Given the description of an element on the screen output the (x, y) to click on. 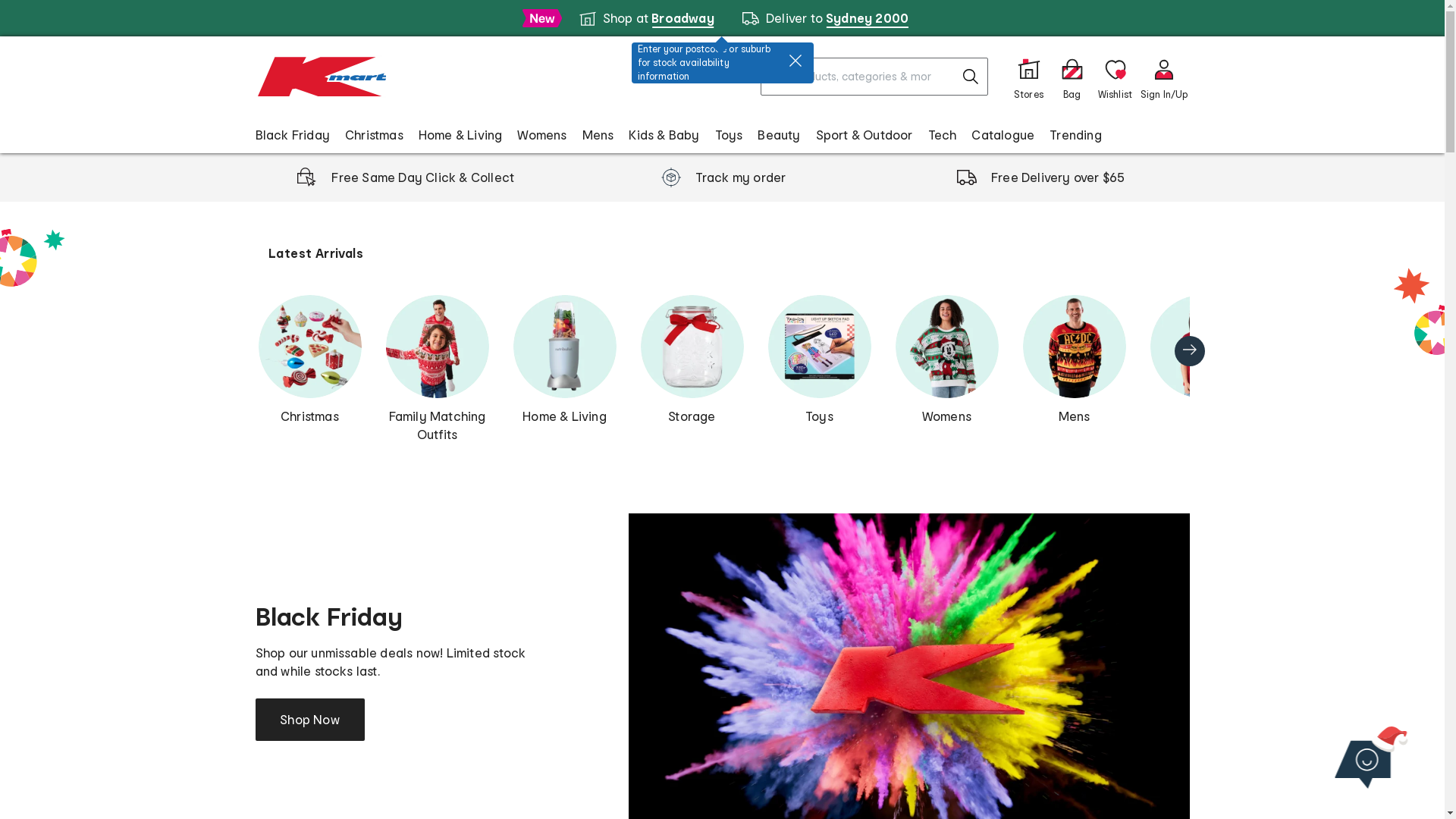
Sign In/Up Element type: text (1164, 76)
Black Friday Element type: text (291, 134)
Toys Element type: text (729, 134)
Family Matching Outfits Element type: text (436, 368)
Shop Now Element type: text (309, 719)
Womens Element type: text (541, 134)
Storage Element type: text (691, 359)
Stores Element type: text (1028, 76)
0
Bag Element type: text (1072, 76)
Tech Element type: text (942, 134)
Womens Element type: text (946, 359)
Track my order Element type: text (722, 177)
Christmas Element type: text (309, 359)
Home & Living Element type: text (563, 359)
Free Delivery over $65 Element type: text (1039, 177)
Free Same Day Click & Collect Element type: text (404, 177)
Kids & Baby Element type: text (663, 134)
Christmas Element type: text (374, 134)
Mens Element type: text (1073, 359)
Mens Element type: text (598, 134)
Toys Element type: text (818, 359)
Trending Element type: text (1075, 134)
Deliver to
Sydney 2000 Element type: text (825, 18)
Latest Arrivals Element type: text (315, 253)
Wishlist Element type: text (1114, 76)
Catalogue Element type: text (1002, 134)
Shop at
Broadway Element type: text (646, 18)
Home & Living Element type: text (460, 134)
Beauty Element type: text (778, 134)
Sport & Outdoor Element type: text (864, 134)
Kids Element type: text (1200, 359)
